Given the description of an element on the screen output the (x, y) to click on. 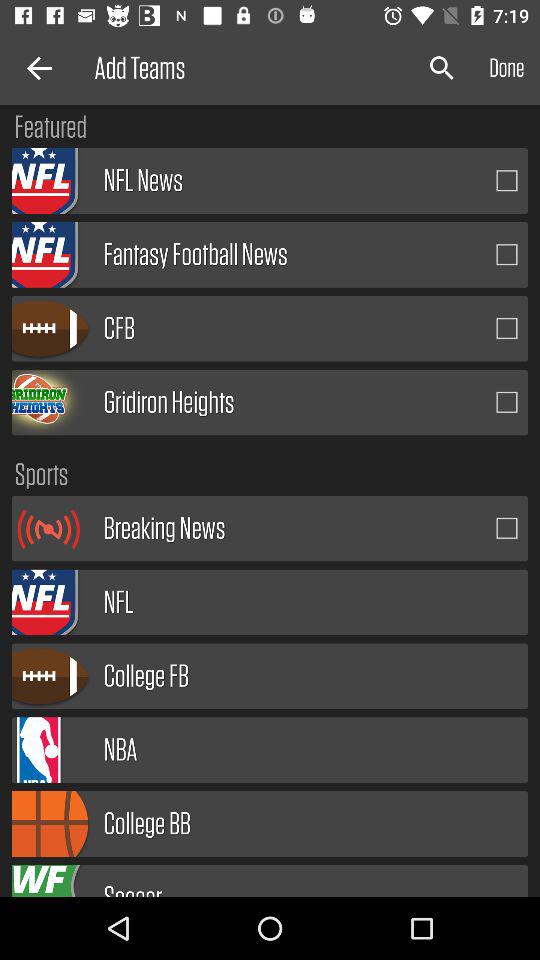
choose icon next to the add teams item (36, 68)
